Given the description of an element on the screen output the (x, y) to click on. 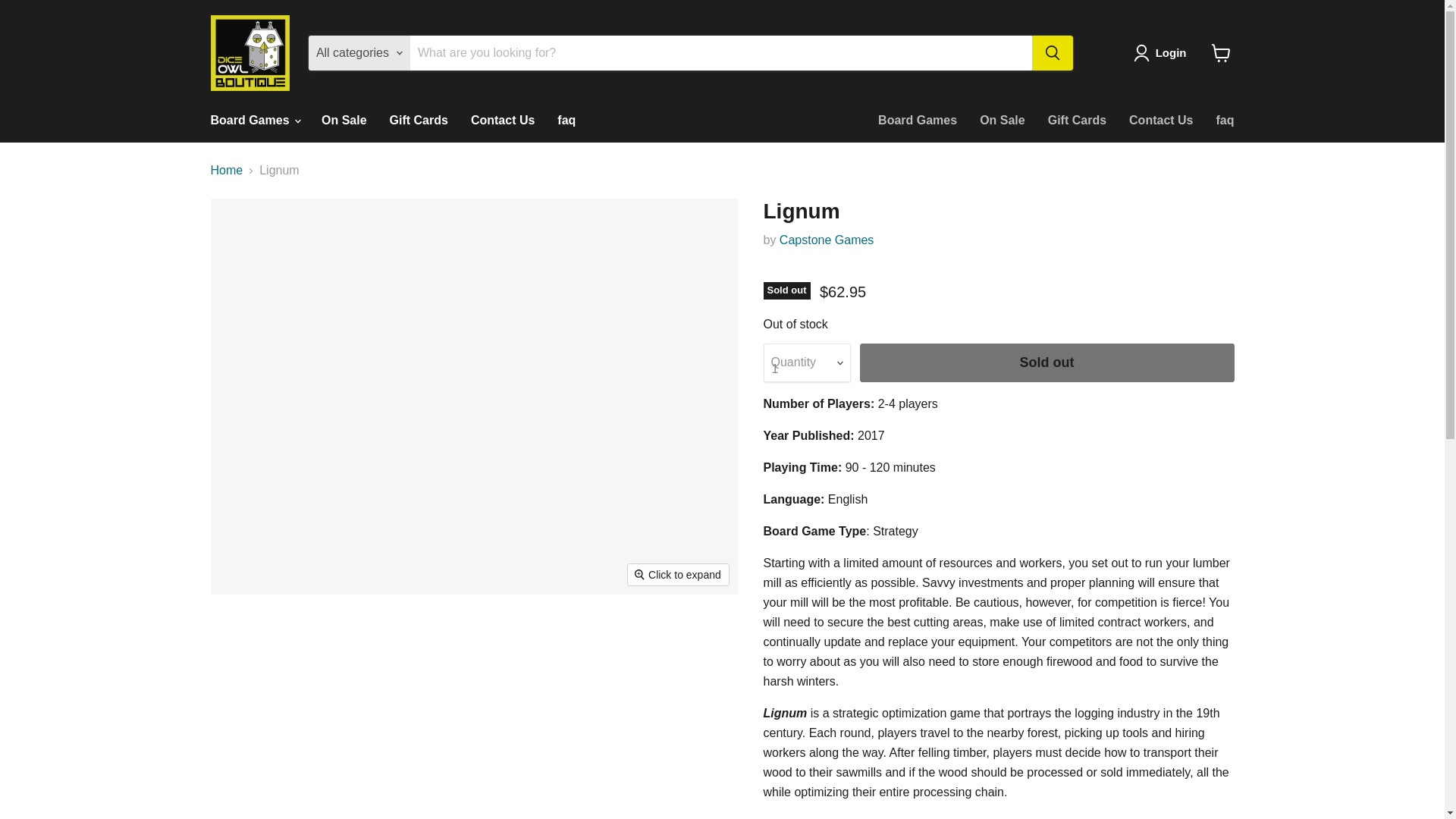
Contact Us (1161, 120)
Gift Cards (1077, 120)
Capstone Games (826, 239)
View cart (1221, 52)
faq (1224, 120)
faq (566, 120)
Contact Us (503, 120)
Board Games (917, 120)
On Sale (344, 120)
Gift Cards (419, 120)
